Given the description of an element on the screen output the (x, y) to click on. 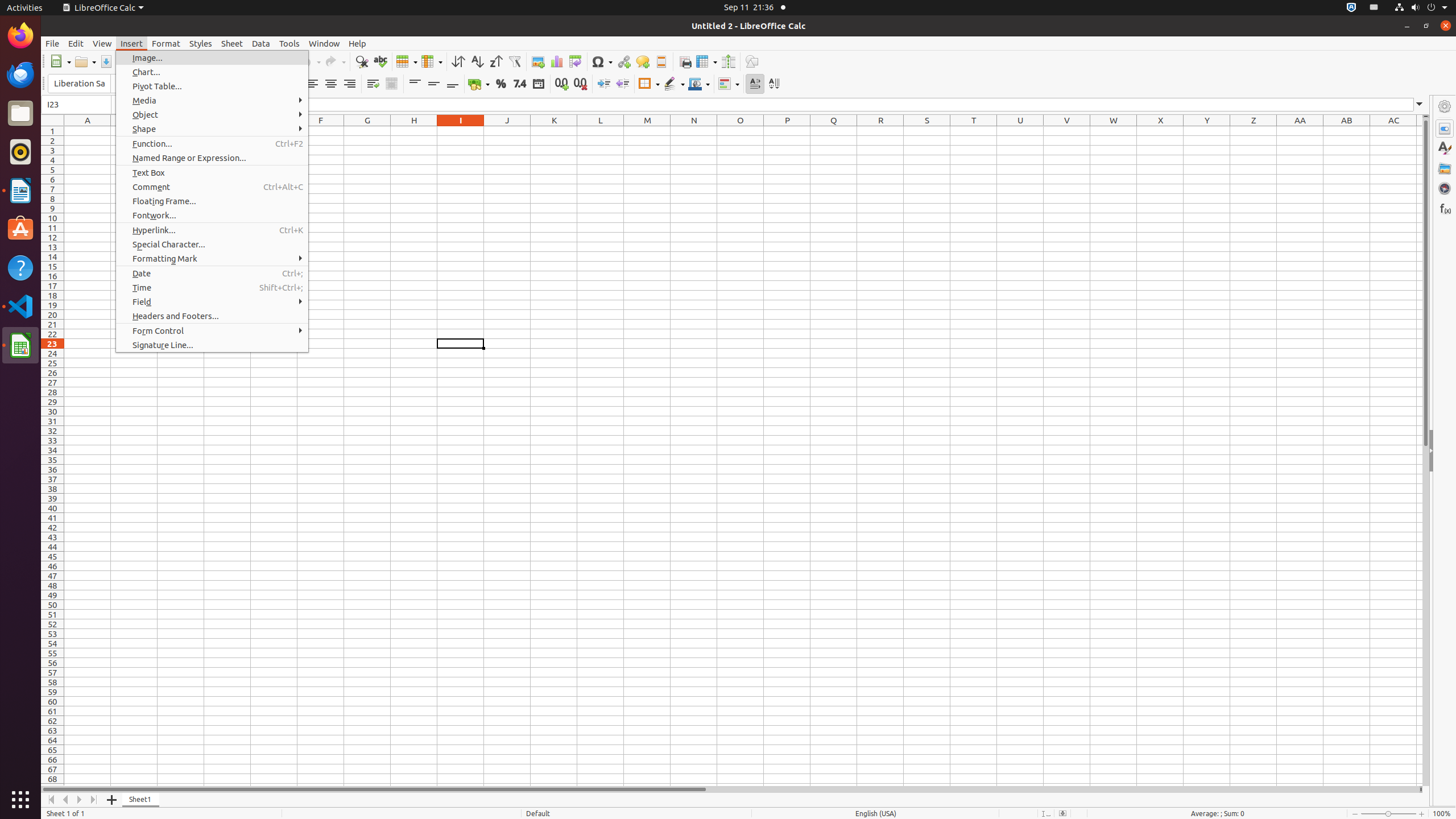
Window Element type: menu (324, 43)
Time Element type: menu-item (212, 287)
Draw Functions Element type: toggle-button (751, 61)
H1 Element type: table-cell (413, 130)
